Given the description of an element on the screen output the (x, y) to click on. 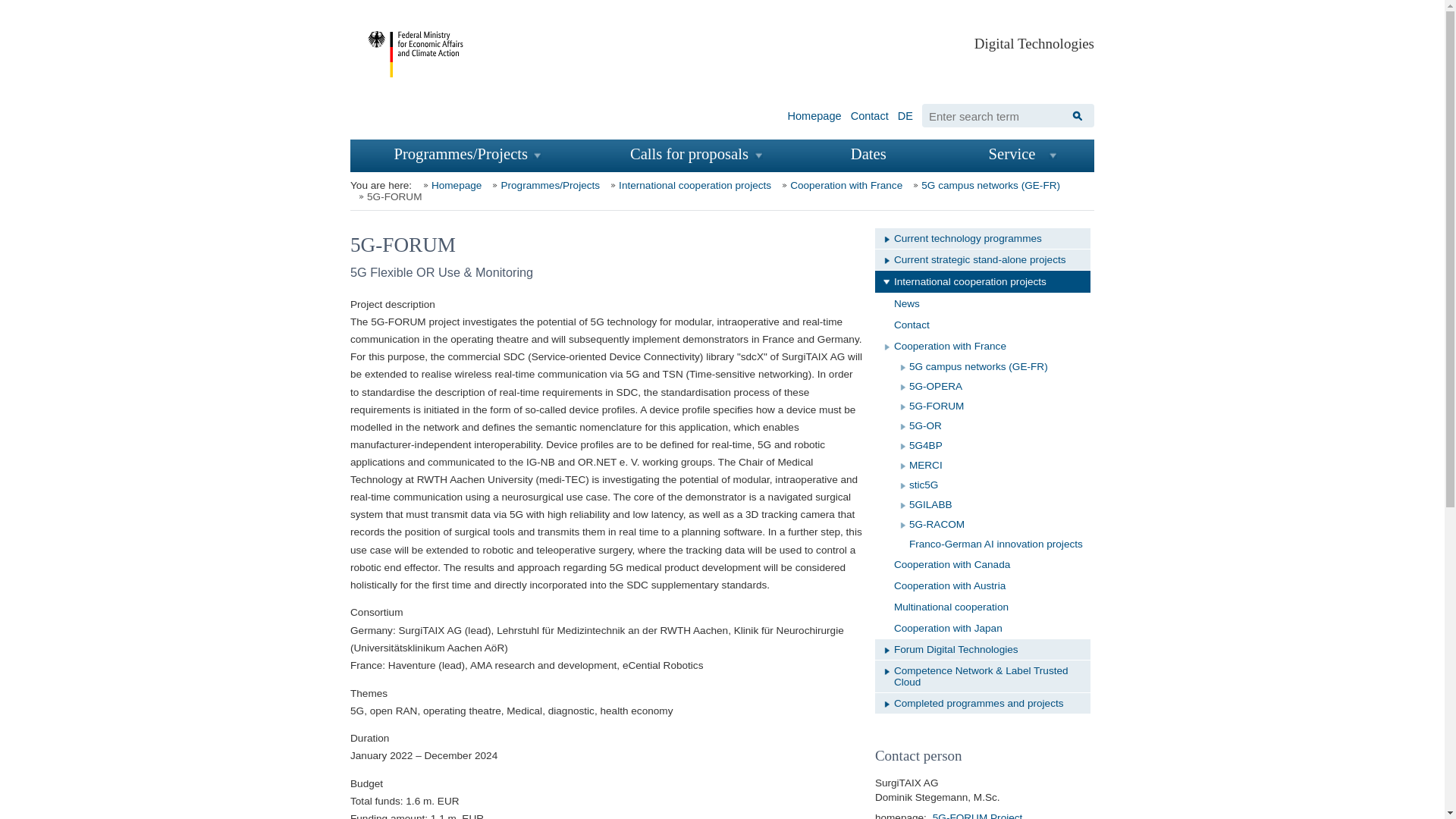
Homepage (814, 113)
Cooperation with France (838, 184)
Dates (876, 154)
News (982, 303)
Area Menu (891, 244)
International cooperation projects (687, 184)
Homepage (449, 184)
